Given the description of an element on the screen output the (x, y) to click on. 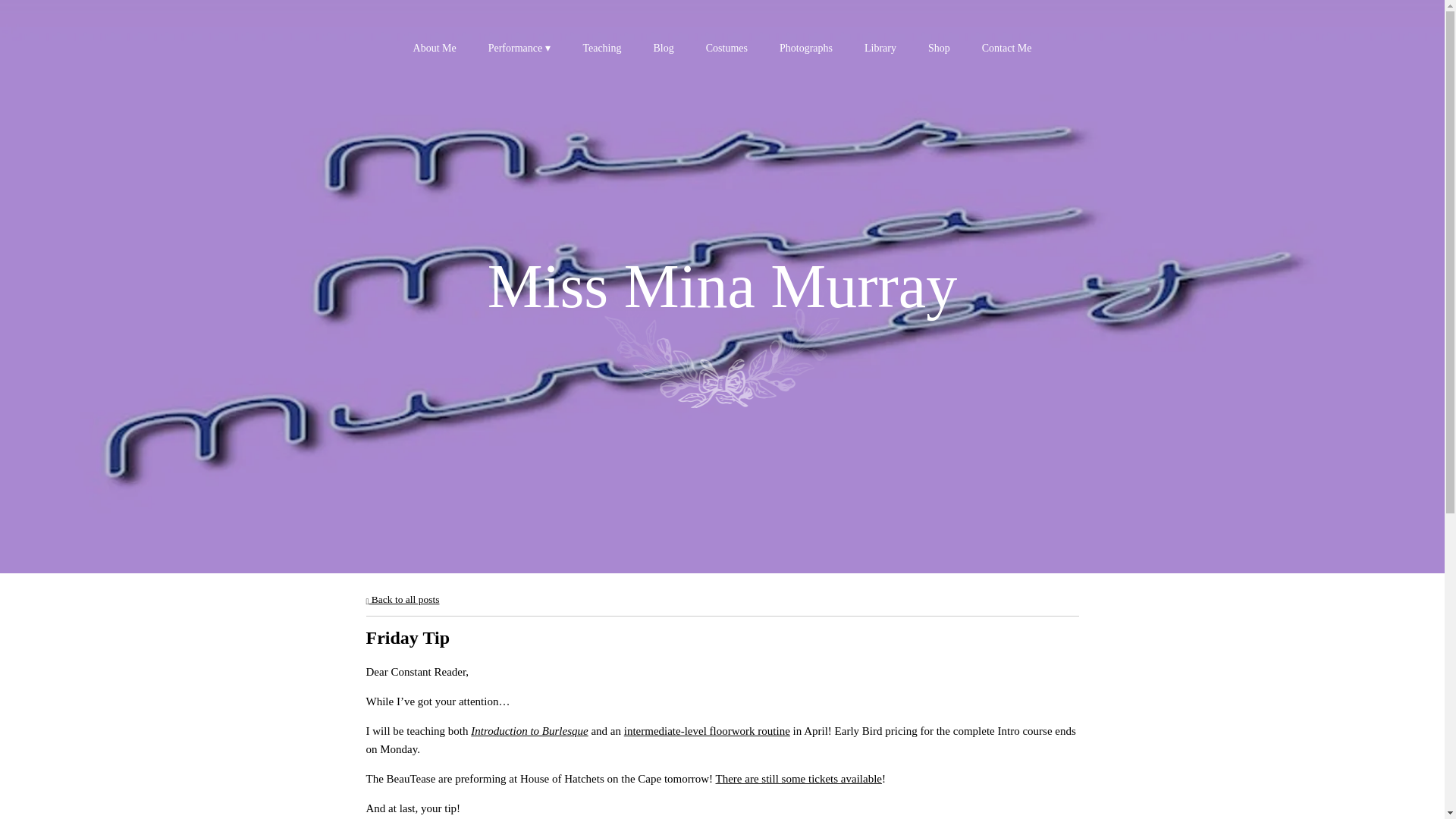
Photographs (805, 48)
Teaching (601, 48)
Contact Me (1006, 48)
Library (880, 48)
Introduction to Burlesque (529, 730)
intermediate-level floorwork routine (707, 730)
There are still some tickets available (799, 778)
Performance (519, 48)
Blog (663, 48)
About Me (435, 48)
Costumes (726, 48)
Shop (939, 48)
Back to all posts (402, 599)
Miss Mina Murray (722, 300)
